Given the description of an element on the screen output the (x, y) to click on. 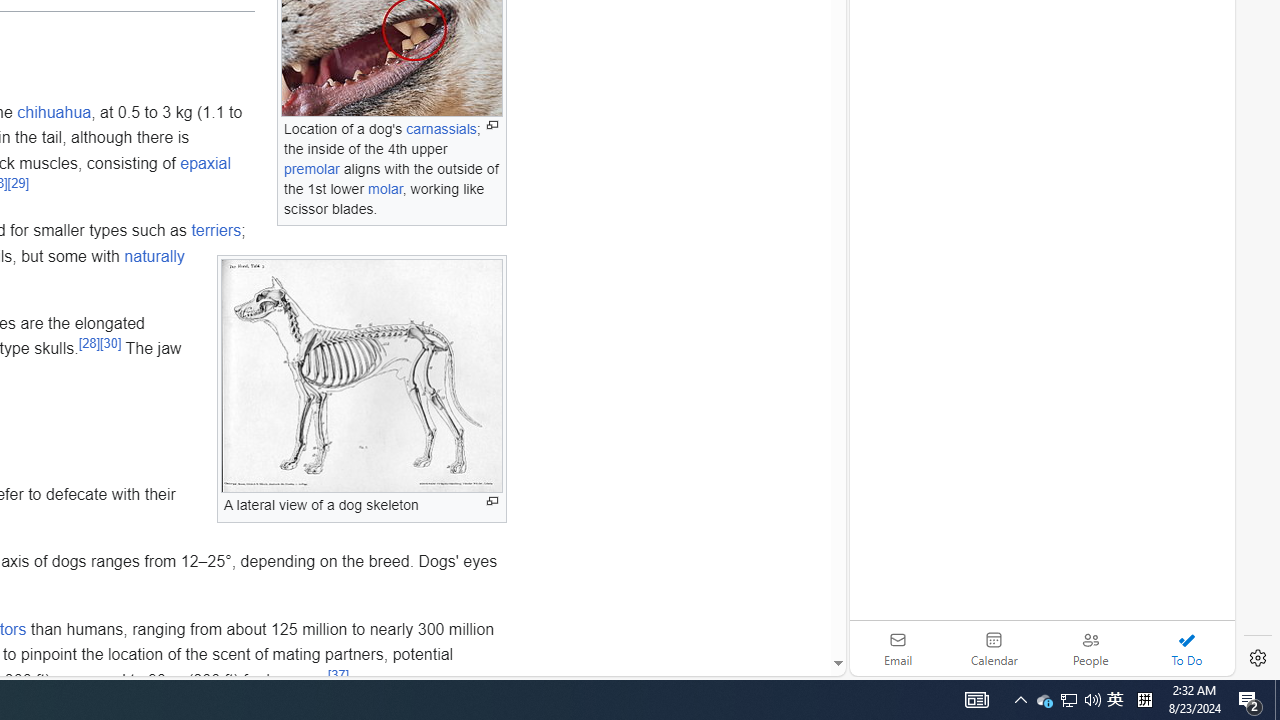
[37] (337, 674)
